Given the description of an element on the screen output the (x, y) to click on. 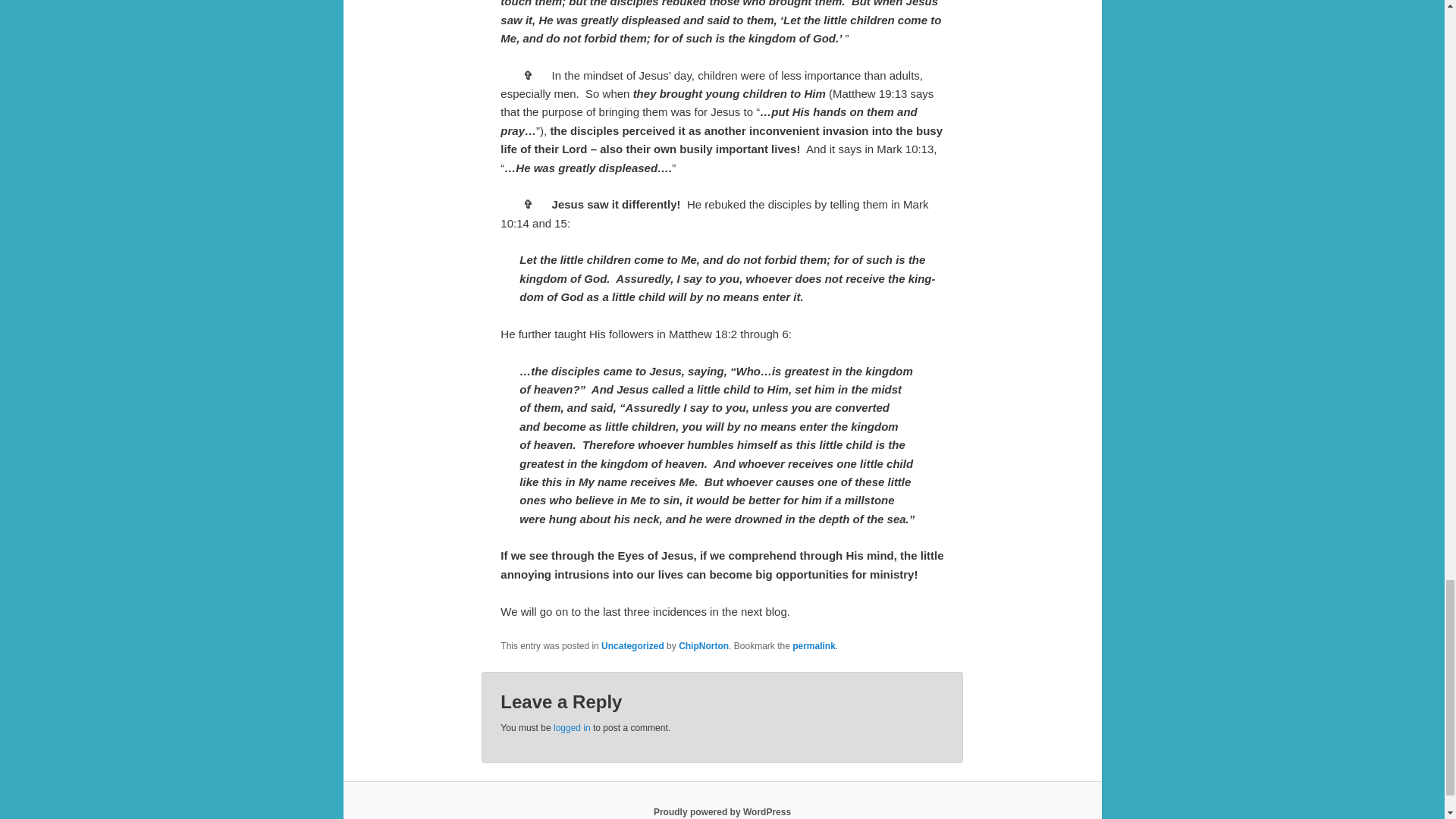
Proudly powered by WordPress (721, 811)
Semantic Personal Publishing Platform (721, 811)
ChipNorton (703, 645)
logged in (572, 727)
permalink (813, 645)
Uncategorized (632, 645)
